Given the description of an element on the screen output the (x, y) to click on. 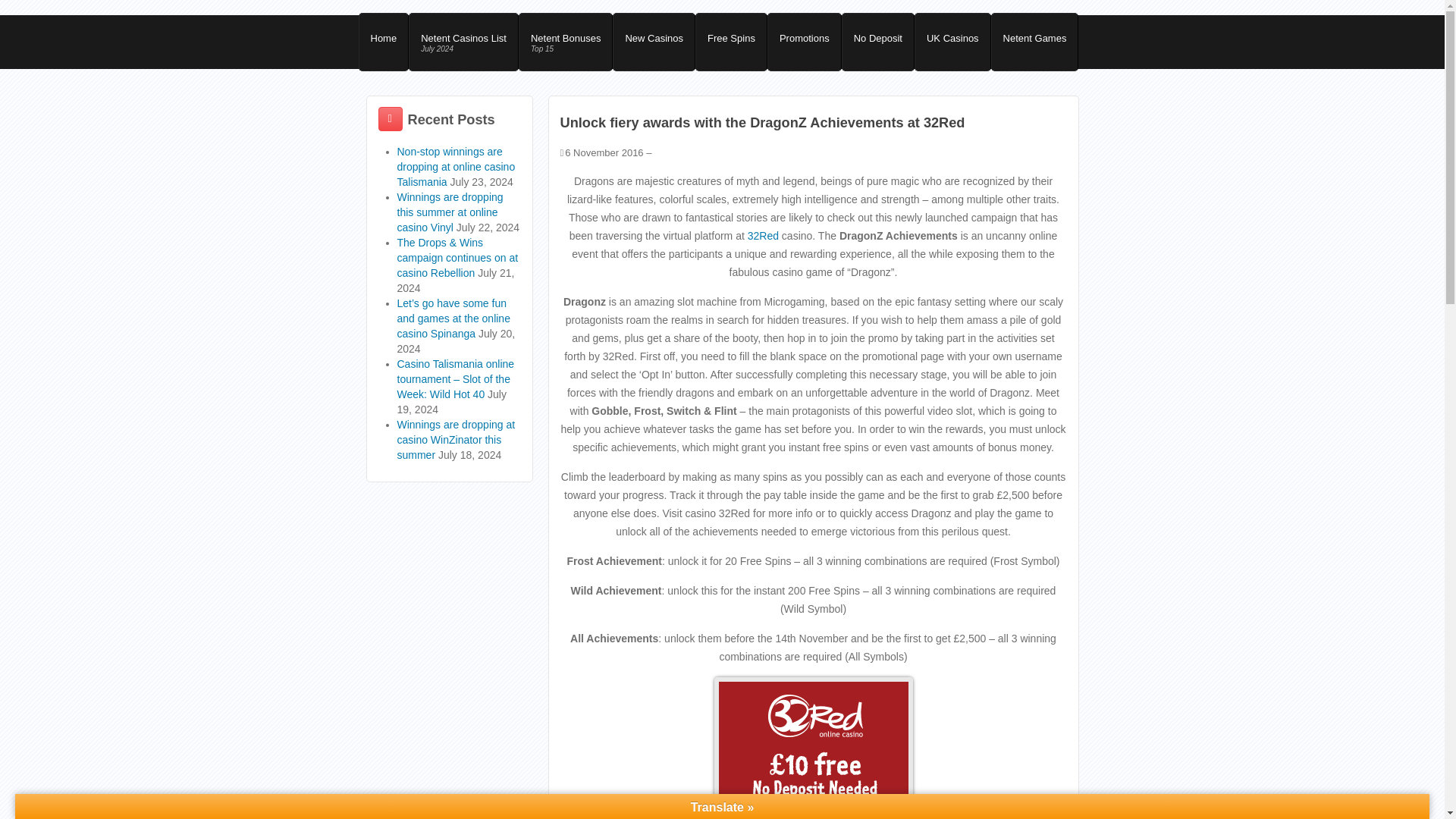
Netent Games (463, 42)
Winnings are dropping this summer at online casino Vinyl (1034, 42)
Non-stop winnings are dropping at online casino Talismania (450, 211)
Winnings are dropping at casino WinZinator this summer (565, 42)
Promotions (456, 166)
32Red (456, 439)
UK Casinos (804, 42)
Free Spins (763, 235)
No Deposit (952, 42)
New Casinos (731, 42)
